Given the description of an element on the screen output the (x, y) to click on. 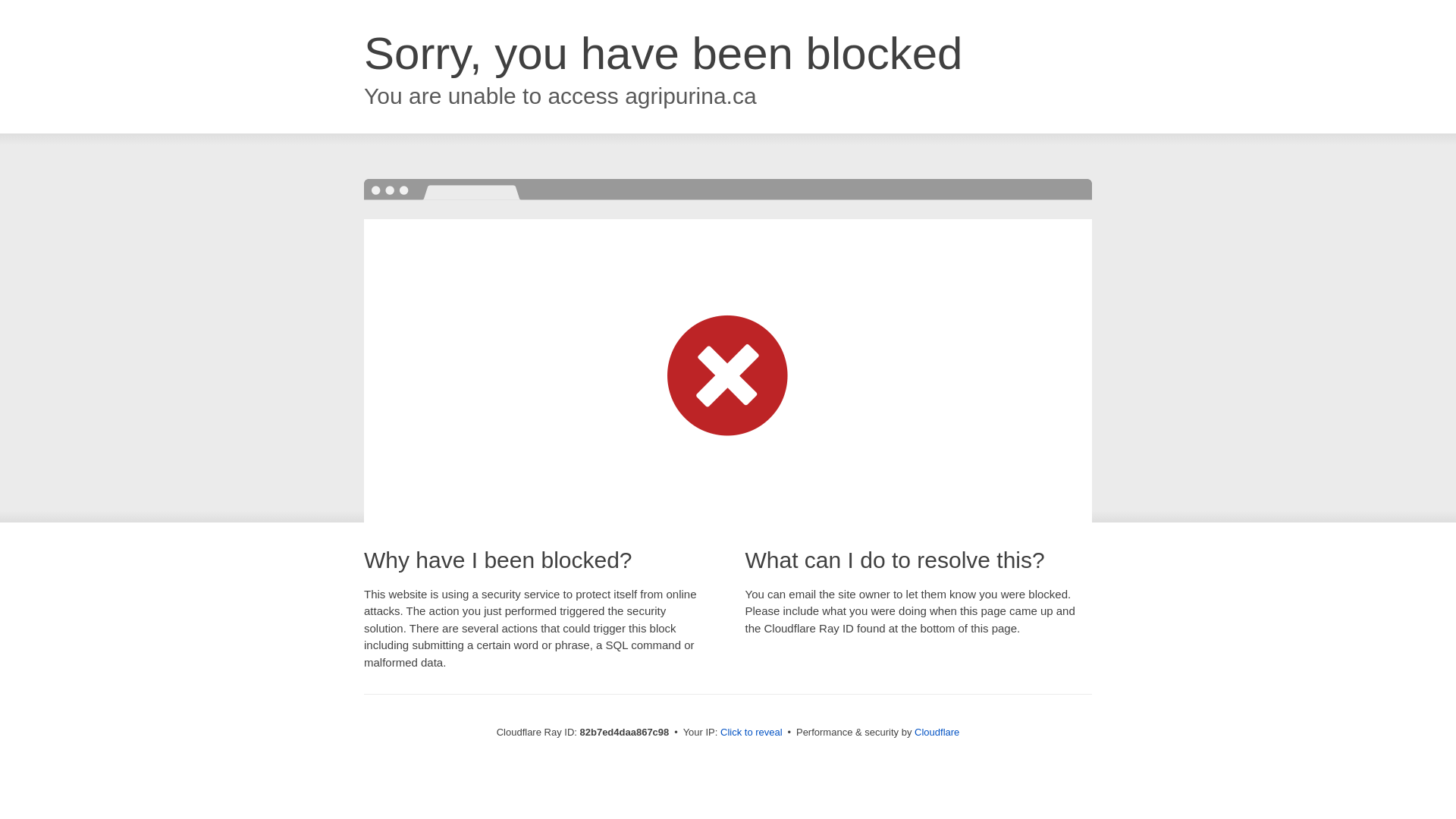
Cloudflare Element type: text (936, 731)
Click to reveal Element type: text (751, 732)
